Given the description of an element on the screen output the (x, y) to click on. 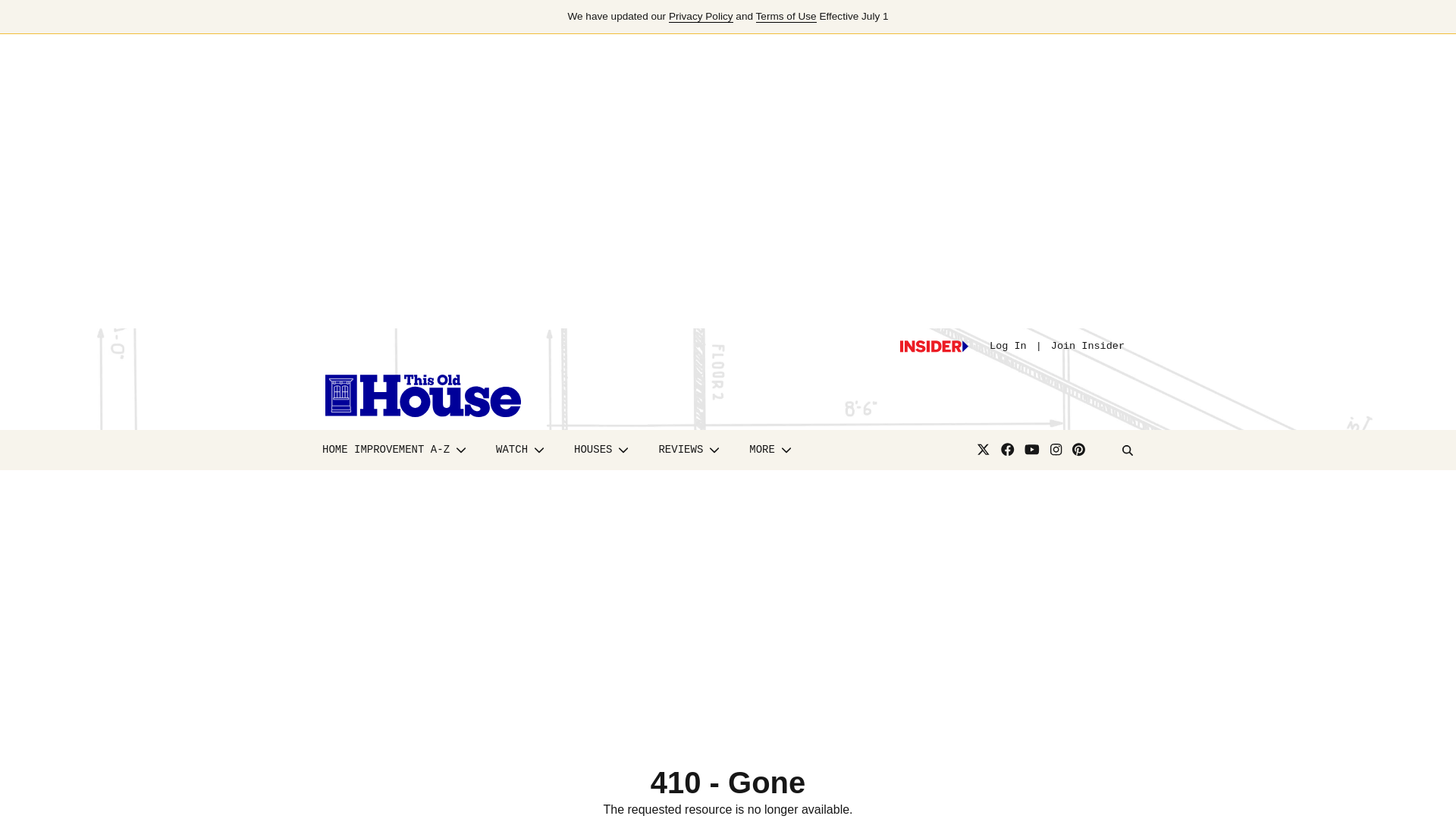
Log in or sign up (933, 346)
Privacy Policy (700, 16)
Terms of Use (785, 16)
Log In (1008, 346)
Join Insider (1087, 346)
